Given the description of an element on the screen output the (x, y) to click on. 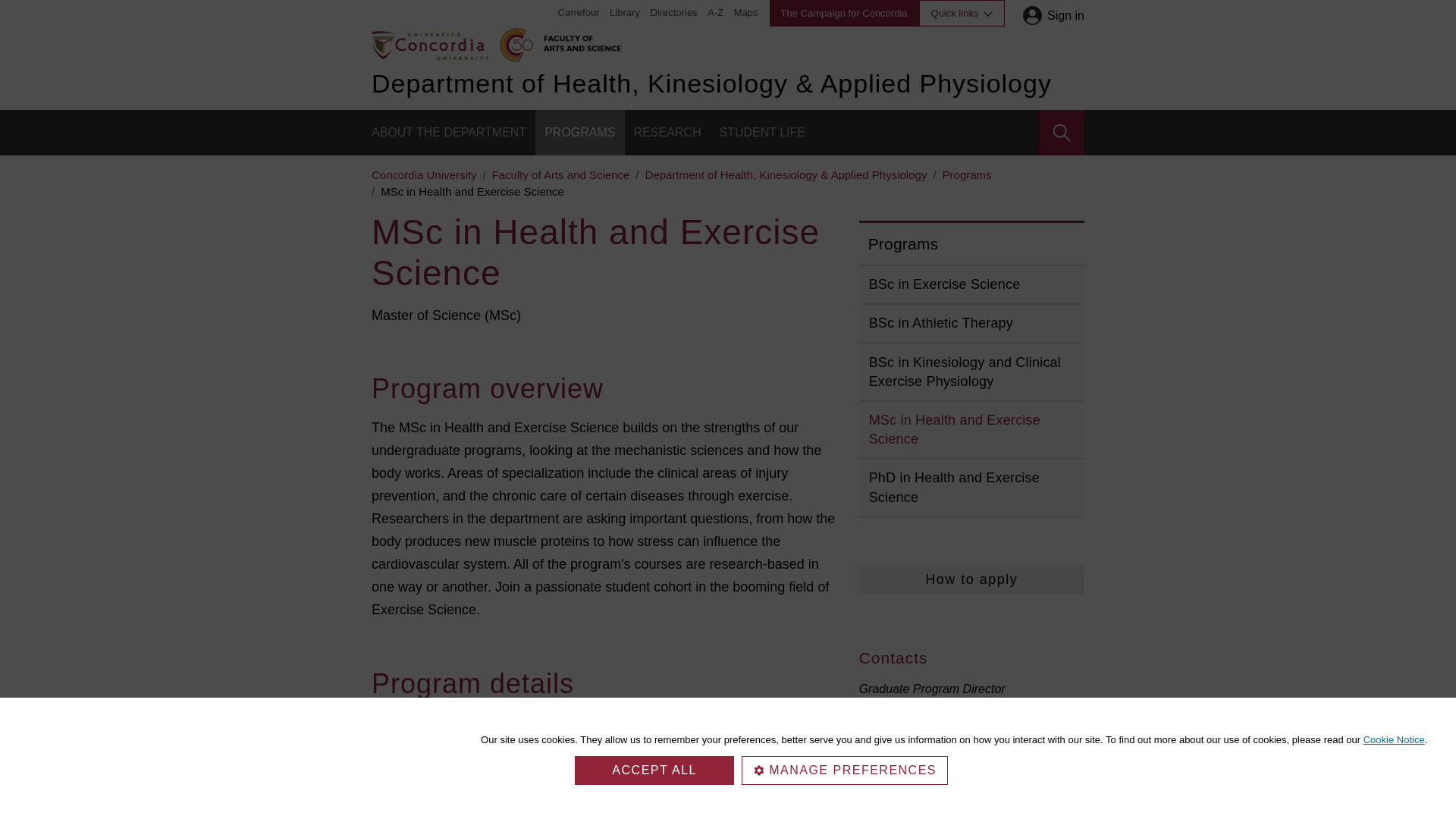
Library (625, 12)
ACCEPT ALL (654, 769)
Back to home (429, 44)
Faculty of Arts and Science (579, 41)
Cookie Notice (1393, 739)
Carrefour (578, 12)
MANAGE PREFERENCES (844, 769)
